Given the description of an element on the screen output the (x, y) to click on. 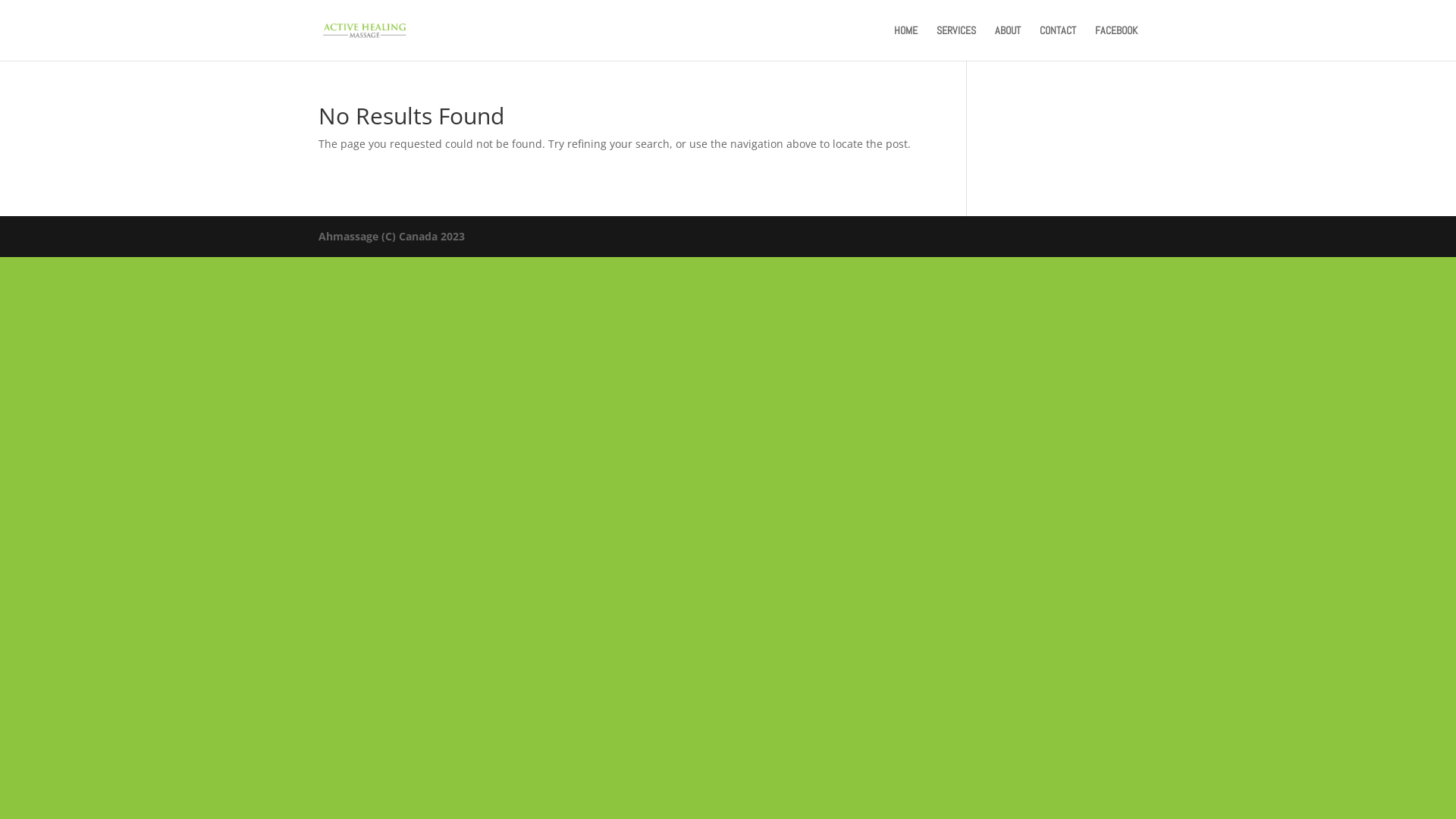
HOME Element type: text (905, 42)
CONTACT Element type: text (1057, 42)
FACEBOOK Element type: text (1116, 42)
SERVICES Element type: text (955, 42)
ABOUT Element type: text (1007, 42)
